Given the description of an element on the screen output the (x, y) to click on. 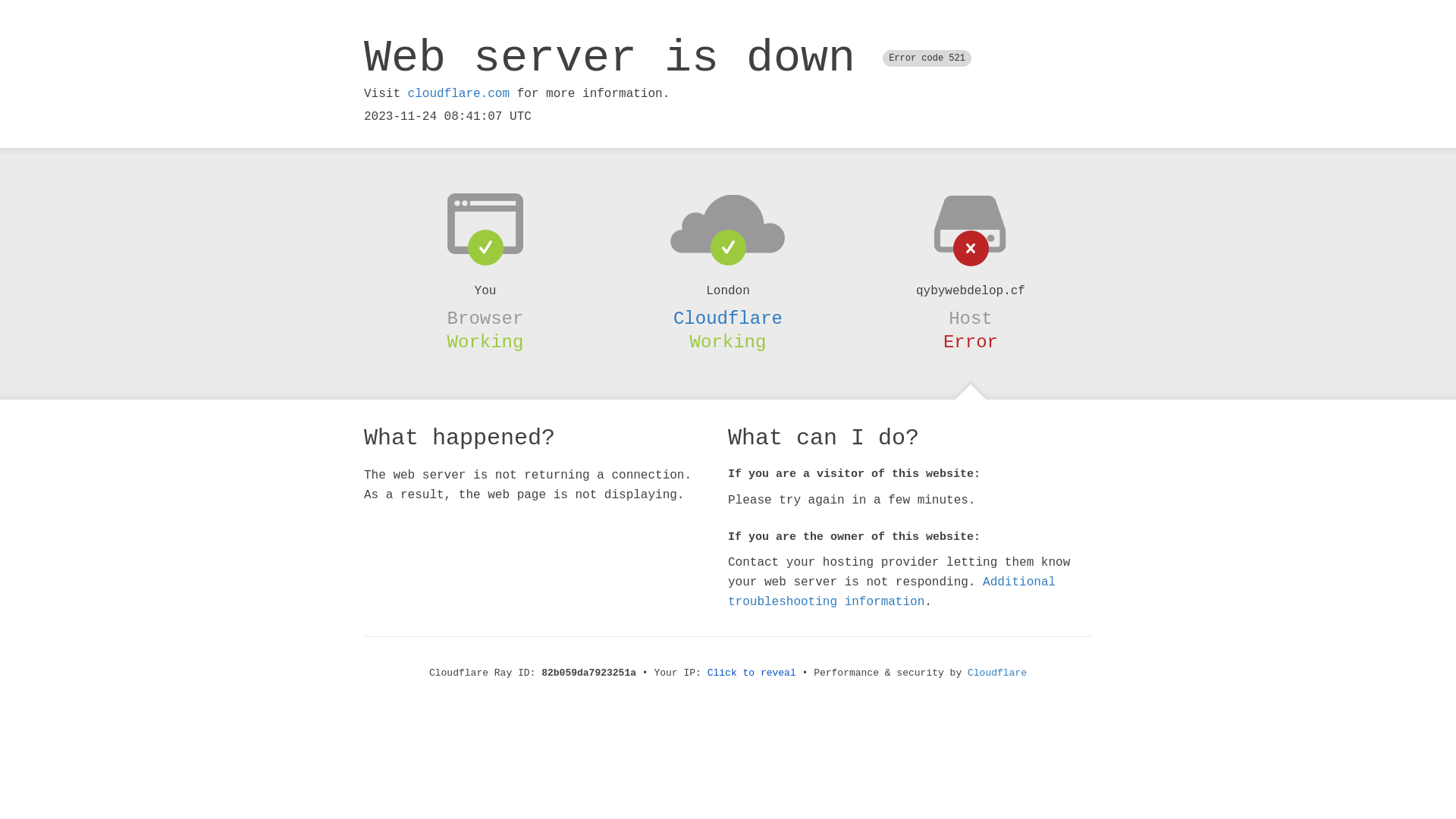
Click to reveal Element type: text (751, 672)
Cloudflare Element type: text (727, 318)
Additional troubleshooting information Element type: text (891, 591)
Cloudflare Element type: text (996, 672)
cloudflare.com Element type: text (458, 93)
